Given the description of an element on the screen output the (x, y) to click on. 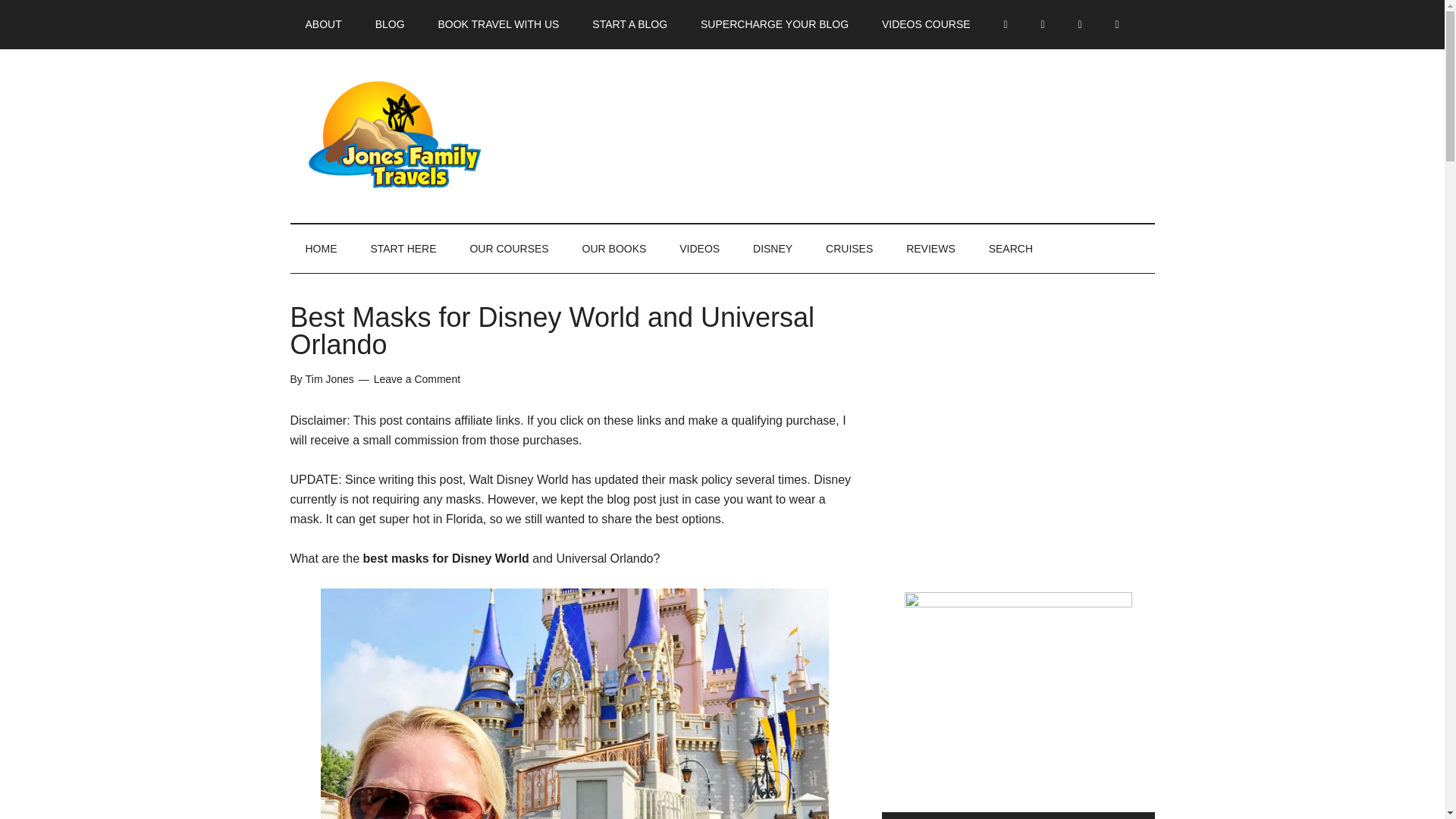
CRUISES (849, 248)
Jones Family Travels (433, 135)
OUR COURSES (508, 248)
HOME (320, 248)
REVIEWS (931, 248)
Leave a Comment (417, 378)
START HERE (403, 248)
SEARCH (1011, 248)
BLOG (389, 24)
